Given the description of an element on the screen output the (x, y) to click on. 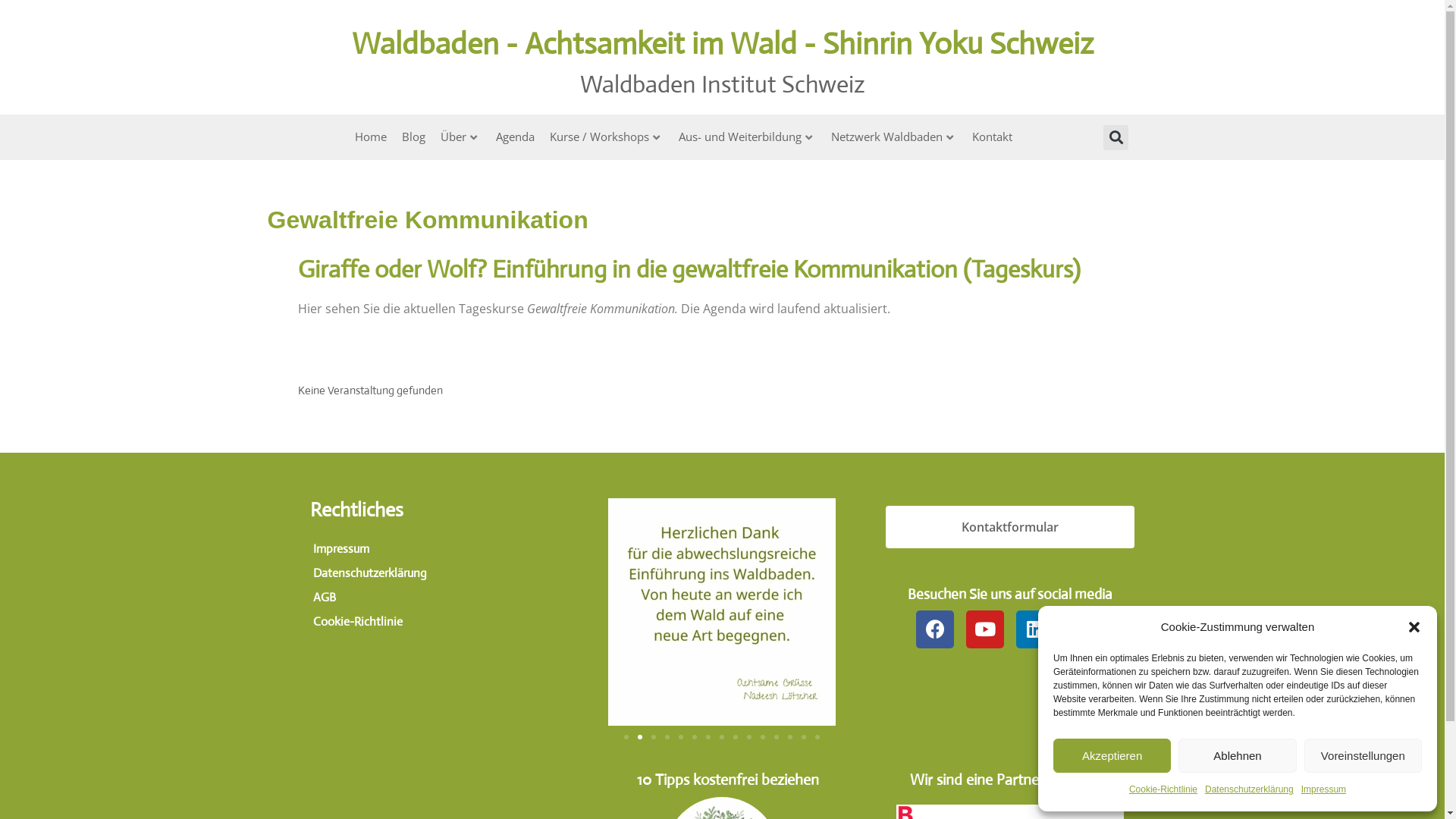
Youtube Element type: text (985, 629)
Instagram Element type: text (1085, 629)
Cookie-Richtlinie Element type: text (433, 621)
Facebook Element type: text (934, 629)
Waldbaden - Achtsamkeit im Wald - Shinrin Yoku Schweiz Element type: text (722, 43)
Kontaktformular Element type: text (1009, 526)
Home Element type: text (370, 137)
AGB Element type: text (433, 597)
Aus- und Weiterbildung Element type: text (747, 137)
Impressum Element type: text (1323, 790)
Ablehnen Element type: text (1236, 755)
Blog Element type: text (413, 137)
Impressum Element type: text (433, 548)
Kurse / Workshops Element type: text (606, 137)
Cookie-Richtlinie Element type: text (1163, 790)
Linkedin Element type: text (1035, 629)
Agenda Element type: text (515, 137)
Akzeptieren Element type: text (1111, 755)
Kontakt Element type: text (991, 137)
Netzwerk Waldbaden Element type: text (893, 137)
Voreinstellungen Element type: text (1362, 755)
